Given the description of an element on the screen output the (x, y) to click on. 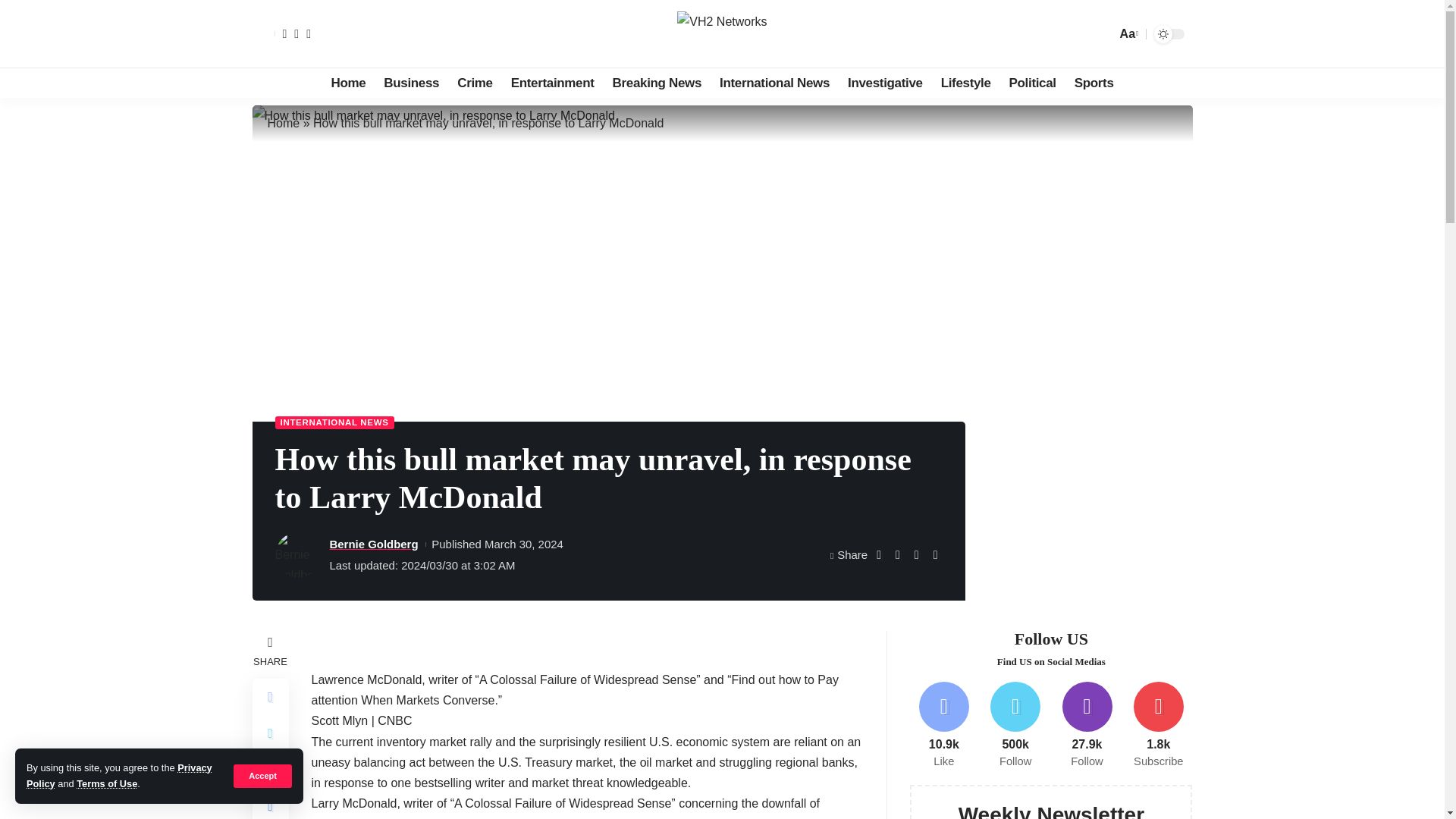
International News (774, 82)
Entertainment (553, 82)
Terms of Use (106, 783)
Business (411, 82)
Lifestyle (965, 82)
Sports (1093, 82)
Aa (1127, 33)
Accept (262, 775)
Political (1032, 82)
